Given the description of an element on the screen output the (x, y) to click on. 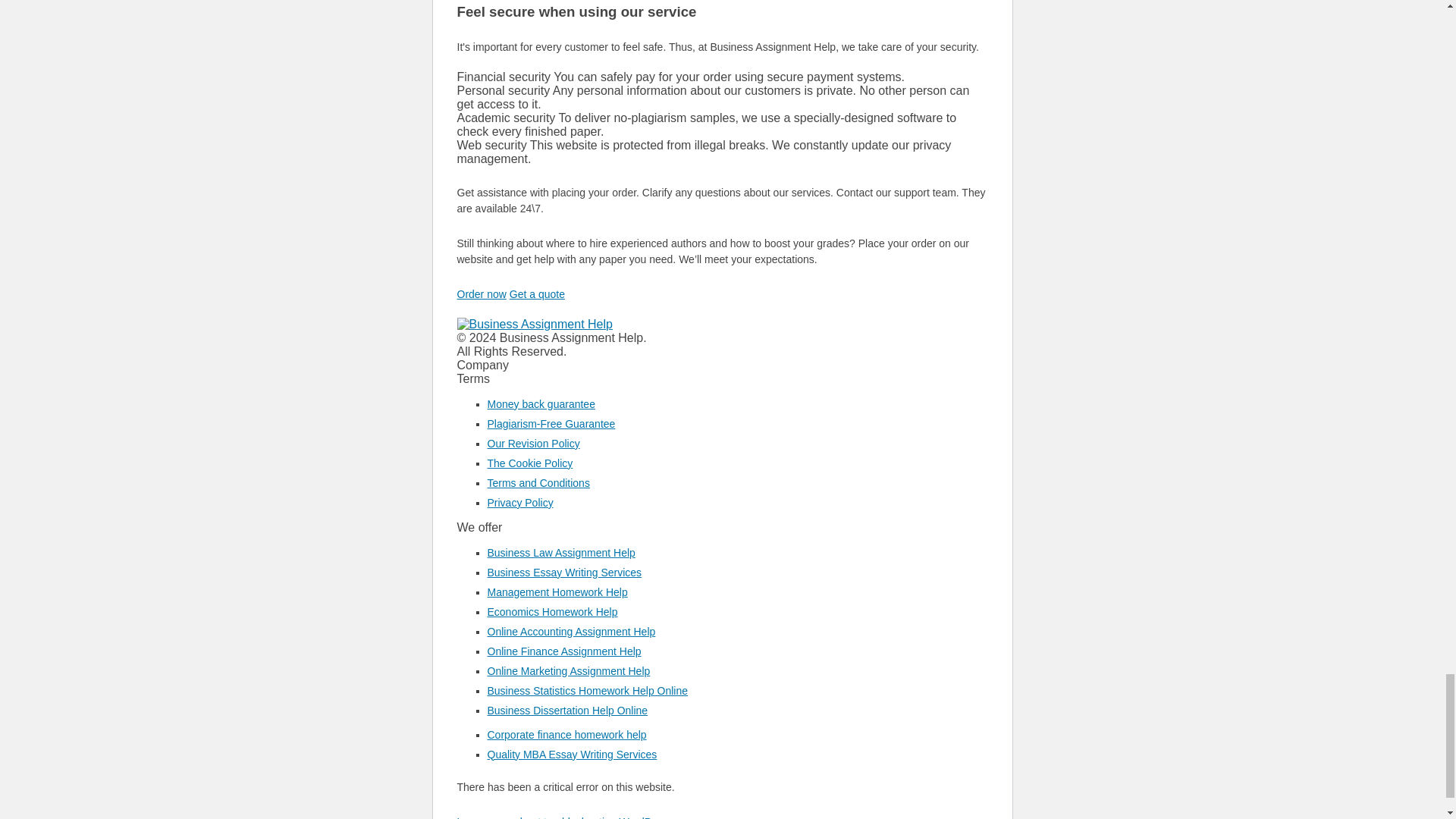
Privacy Policy (519, 502)
Order now (481, 294)
Get a quote (536, 294)
The Cookie Policy (529, 463)
